Given the description of an element on the screen output the (x, y) to click on. 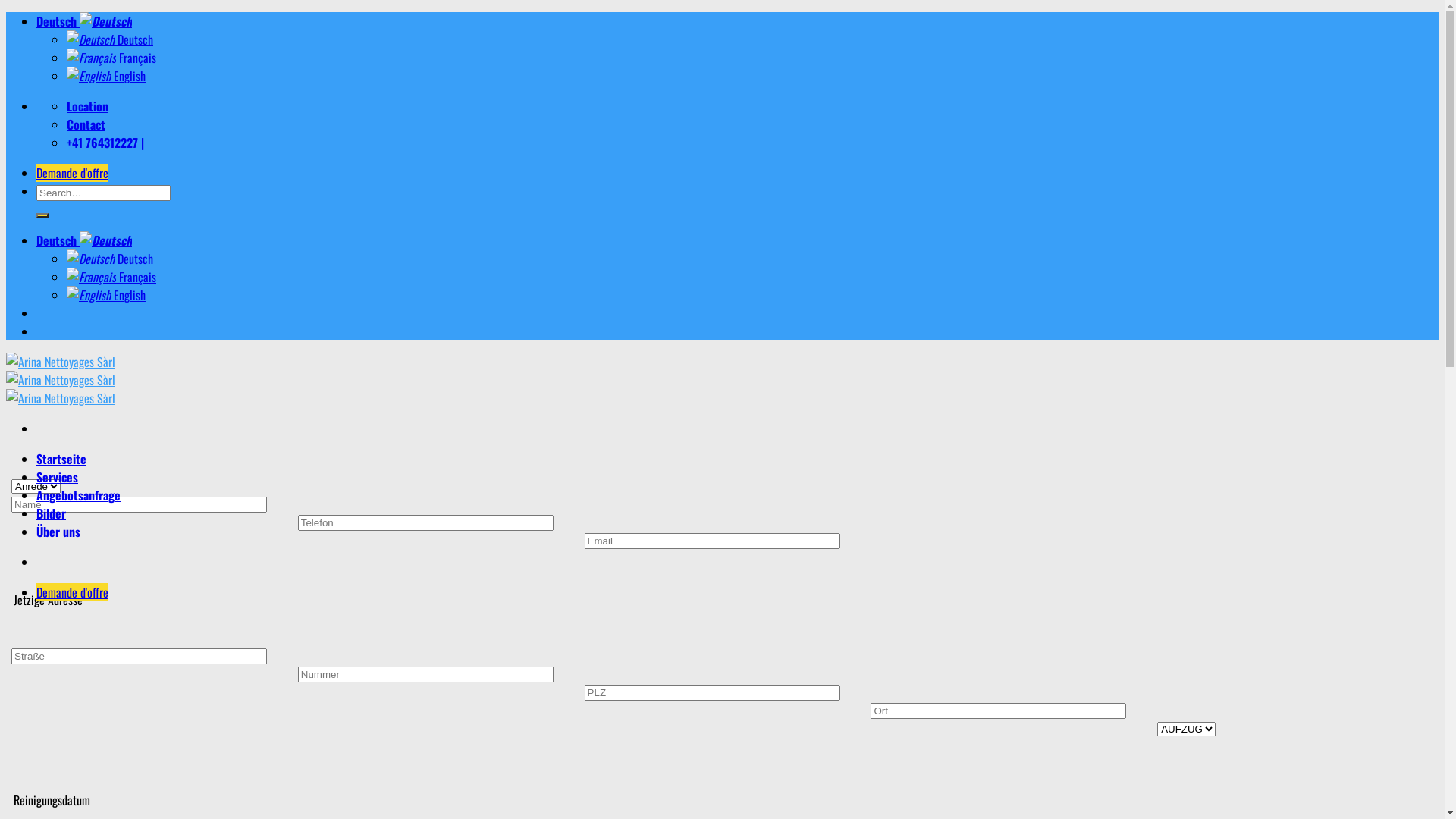
Contact Element type: text (85, 124)
Deutsch Element type: text (83, 21)
+41 764312227 | Element type: text (105, 142)
Demande d'offre Element type: text (72, 592)
Startseite Element type: text (61, 458)
Deutsch Element type: text (109, 258)
Angebotsanfrage Element type: text (78, 495)
Services Element type: text (57, 476)
Deutsch Element type: text (83, 240)
English Element type: text (105, 75)
Demande d'offre Element type: text (72, 172)
Deutsch Element type: text (109, 39)
Skip to content Element type: text (5, 11)
Bilder Element type: text (50, 513)
Location Element type: text (87, 106)
English Element type: text (105, 294)
